Given the description of an element on the screen output the (x, y) to click on. 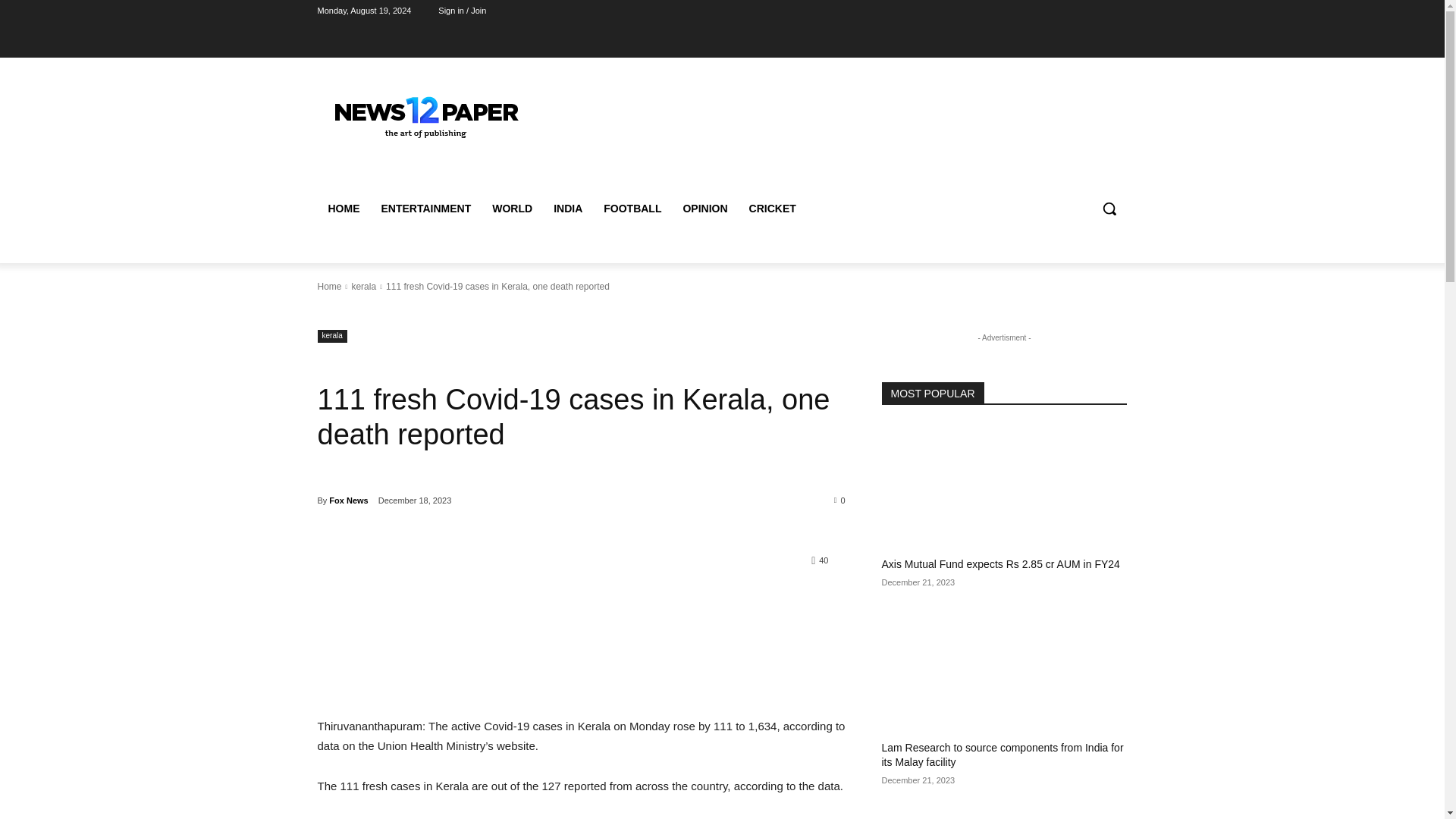
WORLD (512, 208)
HOME (343, 208)
CRICKET (772, 208)
FOOTBALL (631, 208)
kerala (362, 286)
OPINION (704, 208)
Fox News (348, 499)
ENTERTAINMENT (425, 208)
View all posts in kerala (362, 286)
kerala (331, 336)
